Given the description of an element on the screen output the (x, y) to click on. 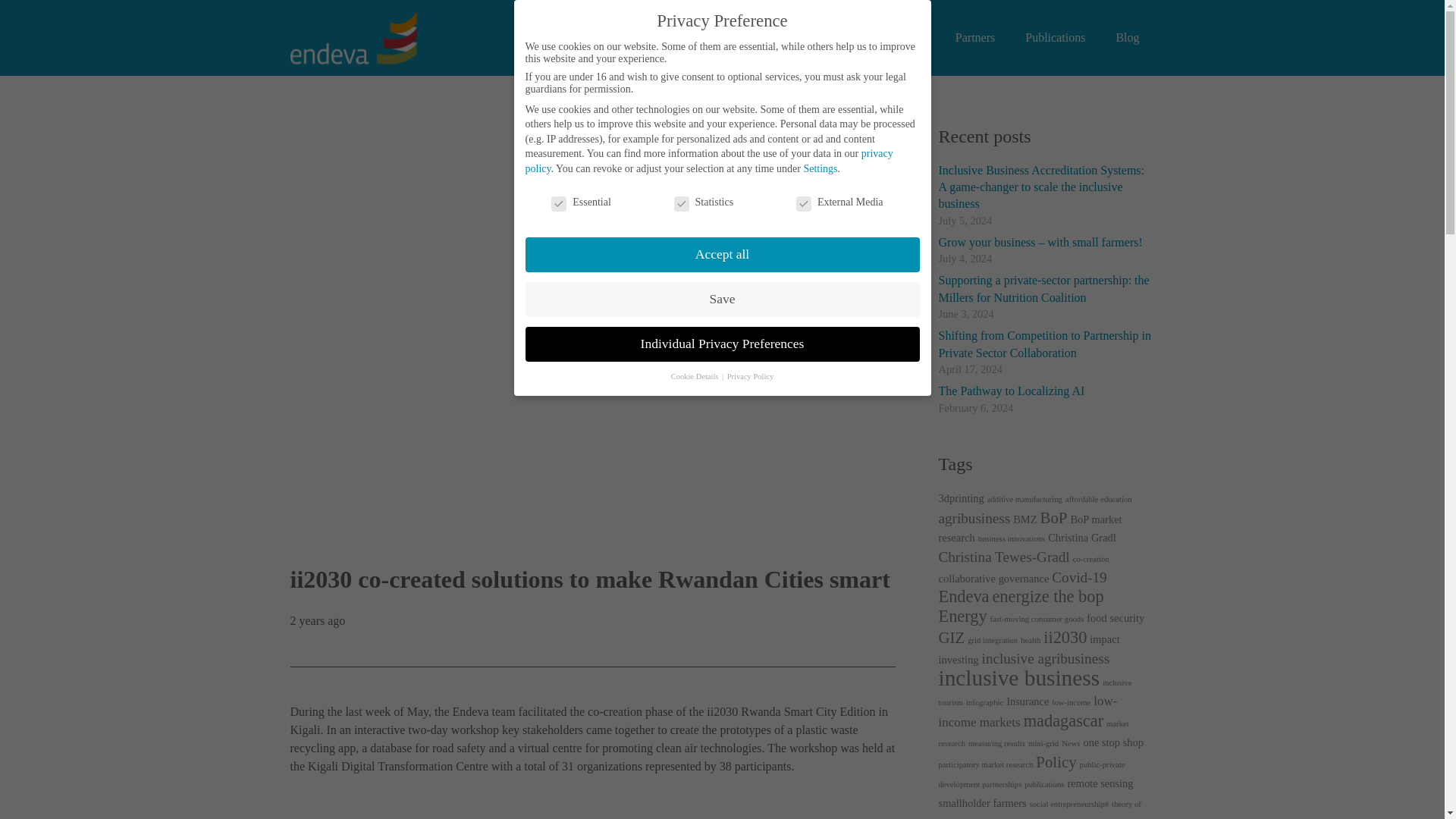
Partners (975, 38)
The Pathway to Localizing AI (1011, 390)
Christina Gradl (1082, 537)
business innovations (1011, 538)
affordable education (1098, 499)
Systems (841, 38)
BoP (1054, 517)
collaborative governance (994, 578)
Publications (1055, 38)
BMZ (1024, 519)
co-creation (1091, 559)
About us (679, 38)
Christina Tewes-Gradl (1004, 556)
What we do (761, 38)
